Given the description of an element on the screen output the (x, y) to click on. 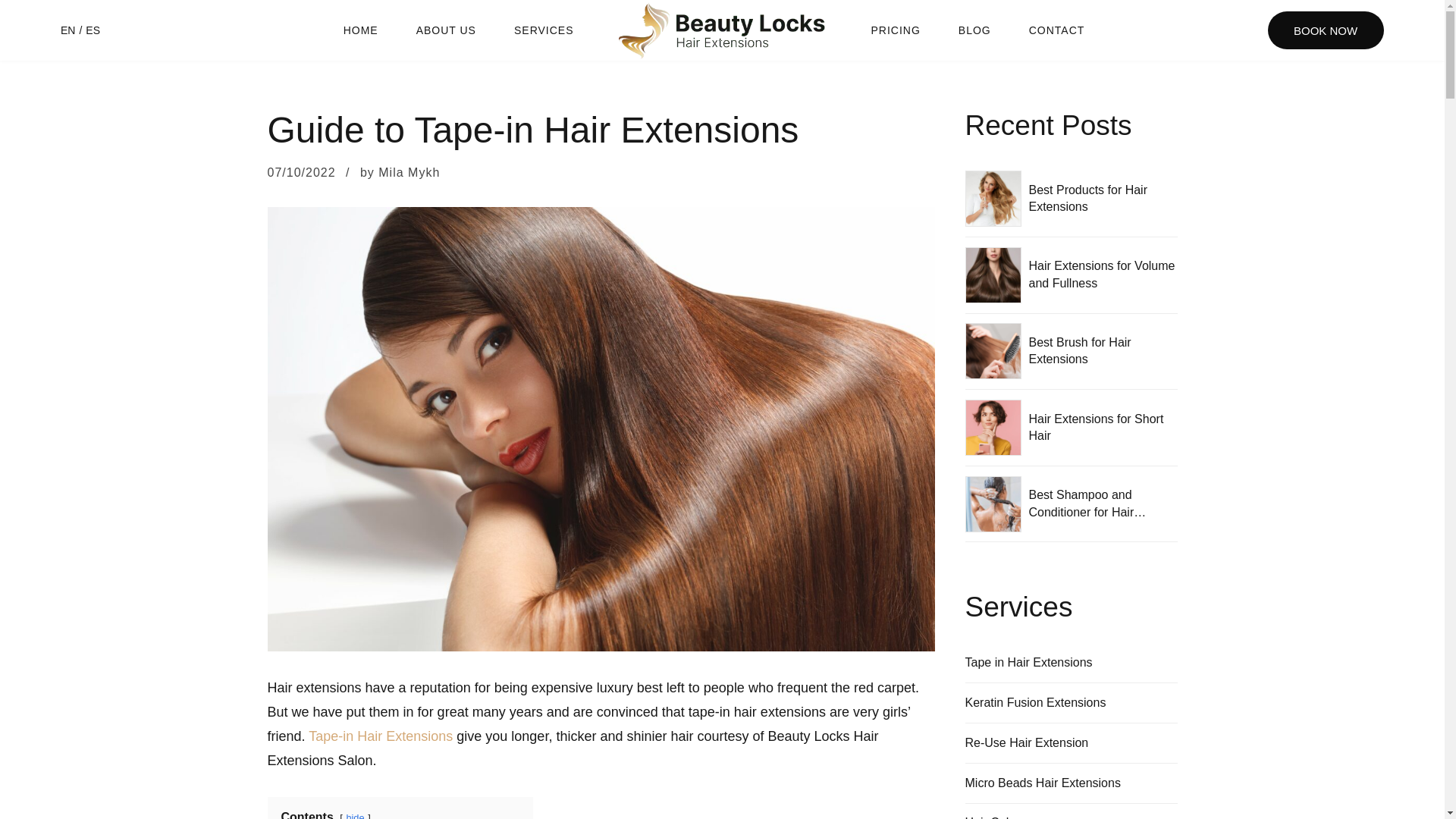
Tape-in Hair Extensions (380, 735)
Hair Extensions for Volume and Fullness (1100, 274)
Best Products for Hair Extensions (1087, 197)
hide (355, 815)
ABOUT US (446, 30)
Hair Extensions for Volume and Fullness (1100, 274)
Best Brush for Hair Extensions (1079, 350)
SERVICES (543, 30)
Best Shampoo and Conditioner for Hair Extensions (1086, 511)
BOOK NOW (1326, 30)
Best Products for Hair Extensions (1087, 197)
CONTACT (1056, 30)
EN (68, 30)
Hair Extensions for Short Hair (1095, 427)
Best Brush for Hair Extensions (1079, 350)
